Given the description of an element on the screen output the (x, y) to click on. 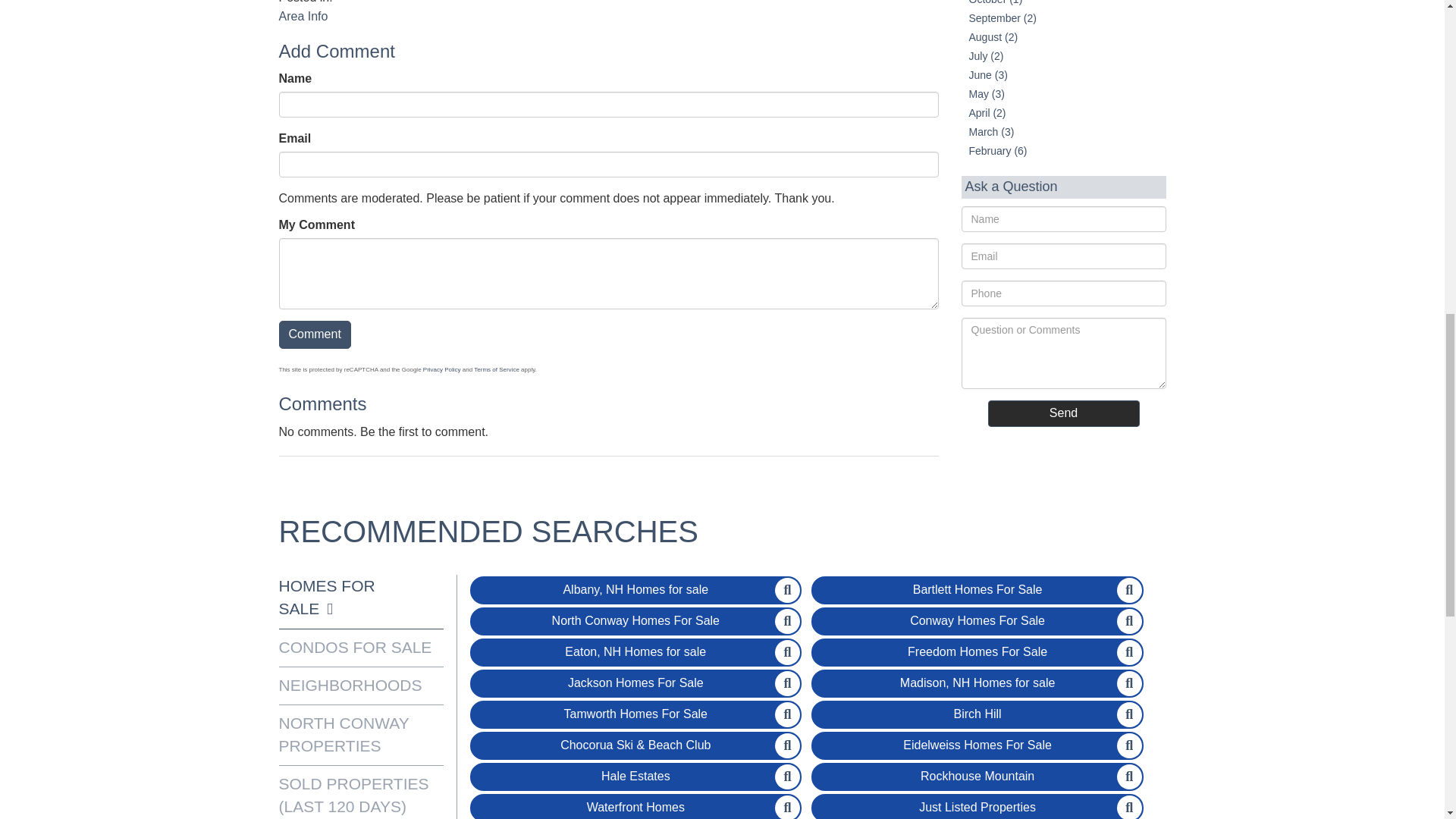
Comment (314, 334)
Albany, NH Homes for sale (636, 590)
Eaton, NH Homes for sale (636, 652)
Bartlett Homes For Sale (976, 590)
Send (1062, 413)
Freedom Homes For Sale (976, 652)
Conway Homes For Sale (976, 621)
